Given the description of an element on the screen output the (x, y) to click on. 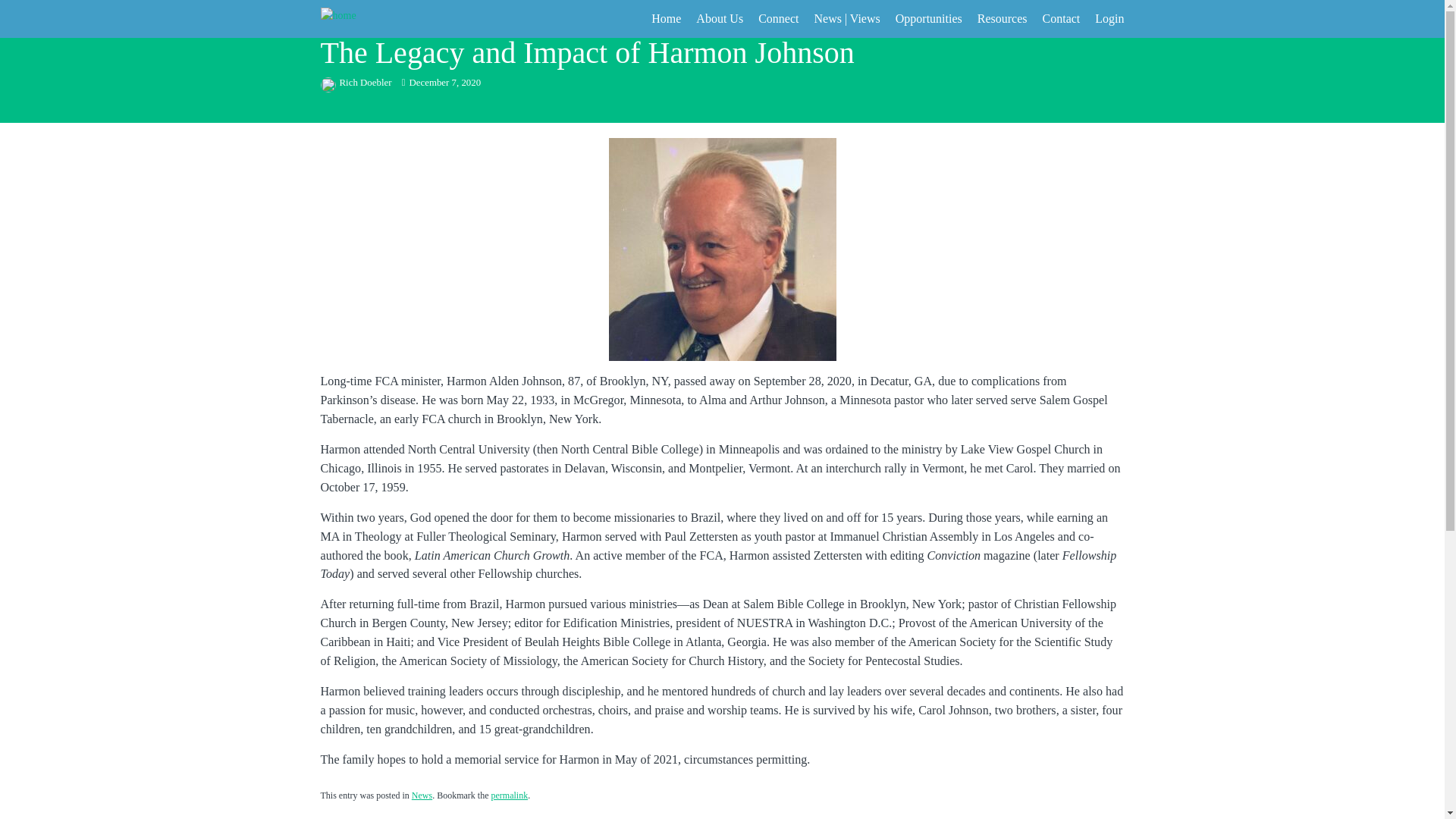
View all posts by Rich Doebler (356, 81)
FCAministers.com (363, 18)
About Us (718, 18)
Opportunities (928, 18)
10:20 am (440, 81)
Permalink to The Legacy and Impact of Harmon Johnson (508, 795)
Connect (777, 18)
Resources (1001, 18)
Home (665, 18)
